Given the description of an element on the screen output the (x, y) to click on. 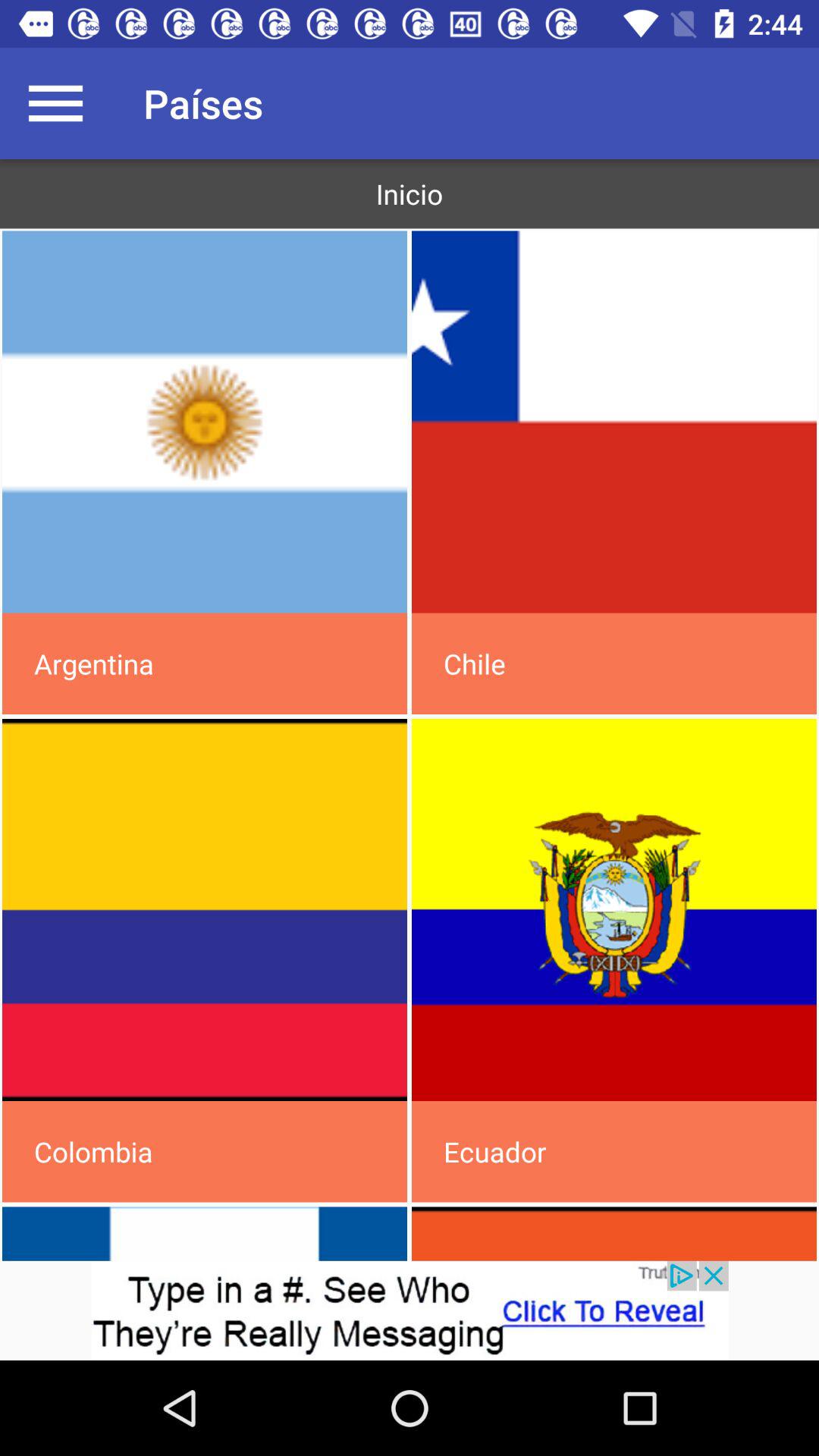
select the country (613, 909)
